Given the description of an element on the screen output the (x, y) to click on. 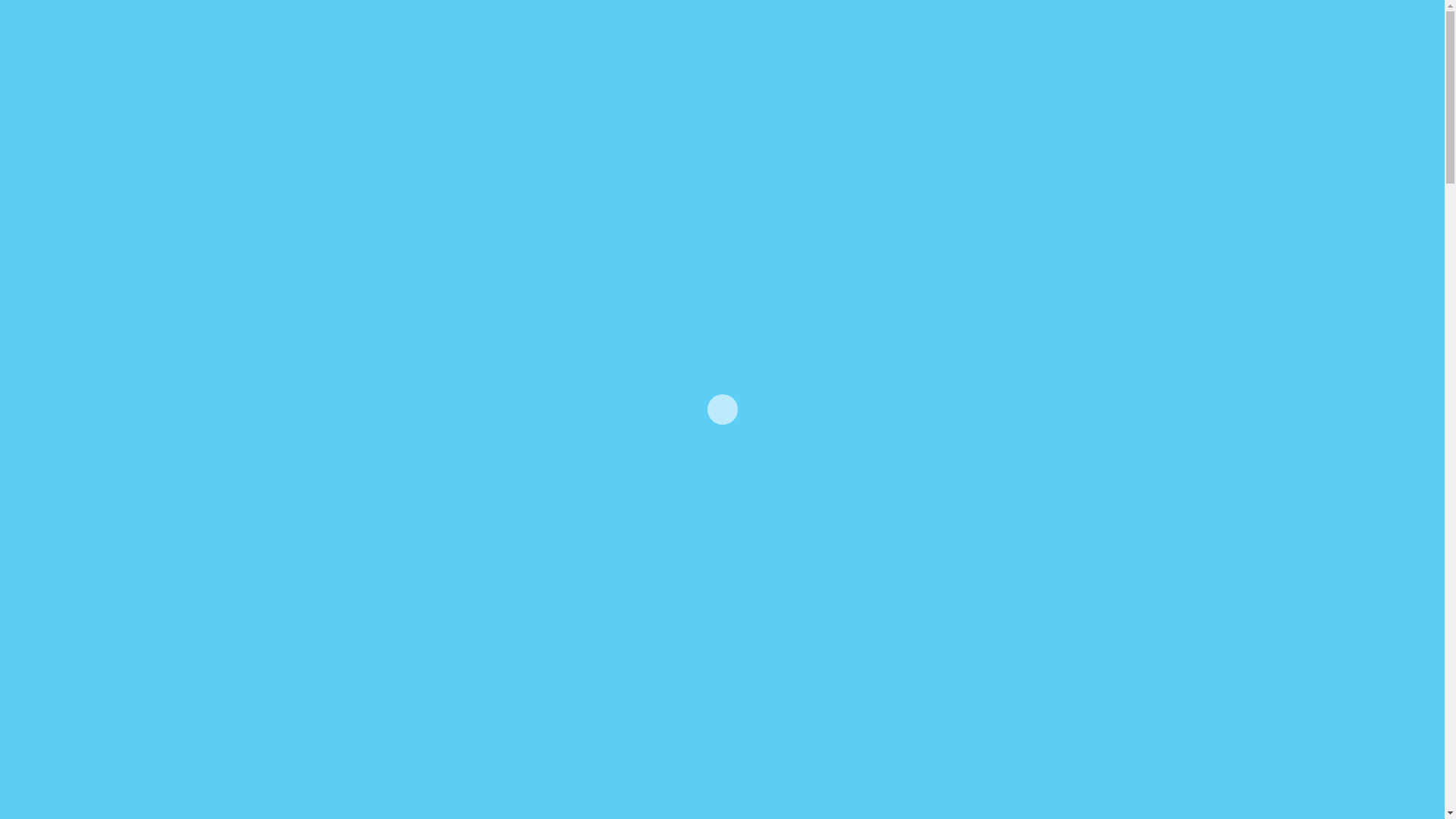
About Nippers  Element type: text (333, 549)
Junior Development Committee  Element type: text (333, 772)
Age Managers  Element type: text (333, 735)
The Club  Element type: text (333, 512)
YELLOW FINS - INCLUSIVE BEACHES Element type: text (1180, 37)
SEASON CALENDAR Element type: text (925, 37)
TRAINING Element type: text (1030, 37)
THE CLUB Element type: text (819, 38)
ELOUERA SLSC Element type: text (1341, 37)
How to Join  Element type: text (333, 586)
Upcoming Events  Element type: text (333, 698)
Search Element type: hover (1406, 37)
HOME Element type: text (753, 37)
Club Documents & Information  Element type: text (333, 661)
Swim Proficiency  Element type: text (333, 624)
